Given the description of an element on the screen output the (x, y) to click on. 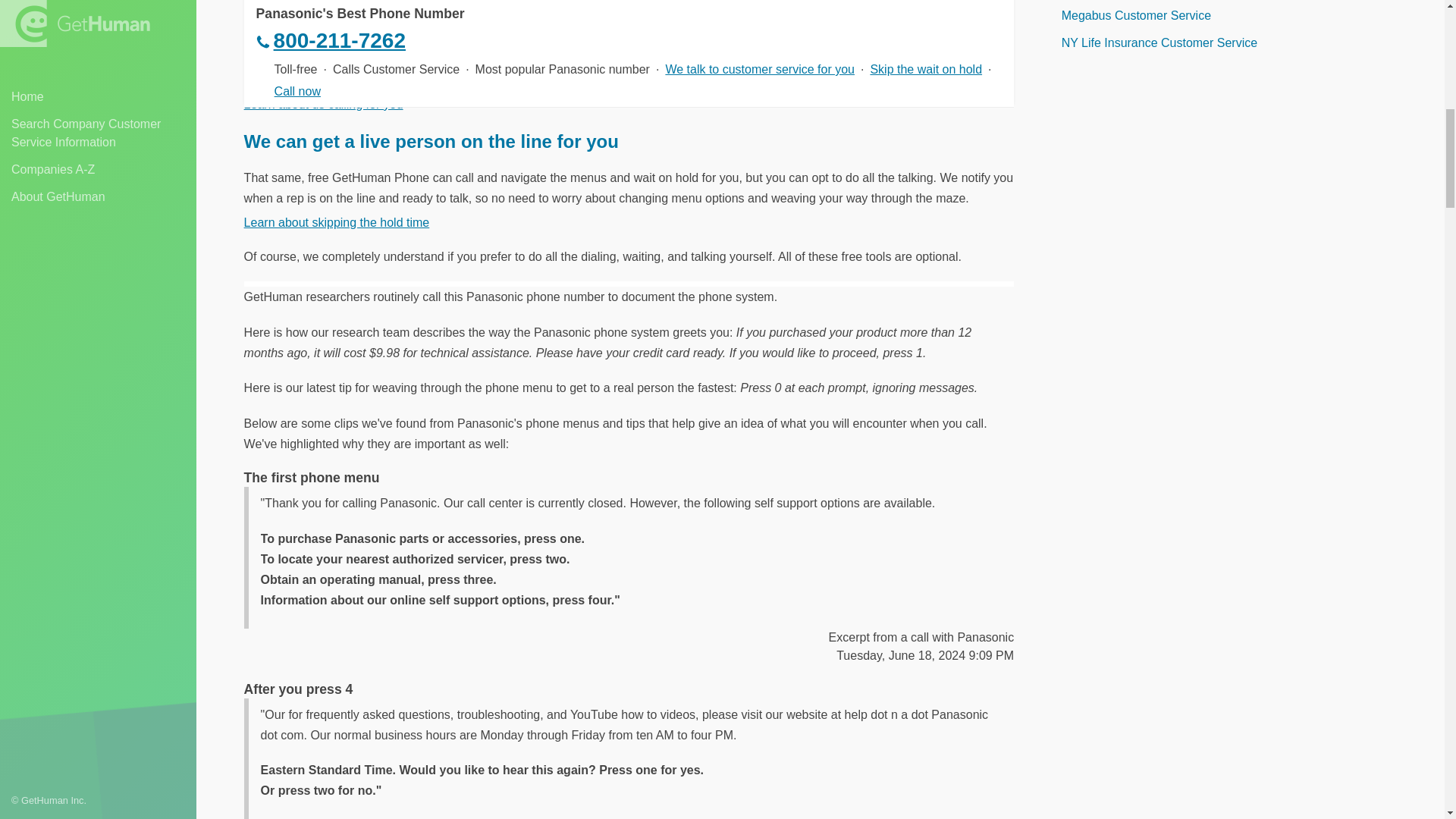
Learn about us calling for you (323, 103)
Learn about skipping the hold time (336, 222)
We can get a live person on the line for you (431, 141)
Let us call and talk to Panasonic for you (418, 23)
